Given the description of an element on the screen output the (x, y) to click on. 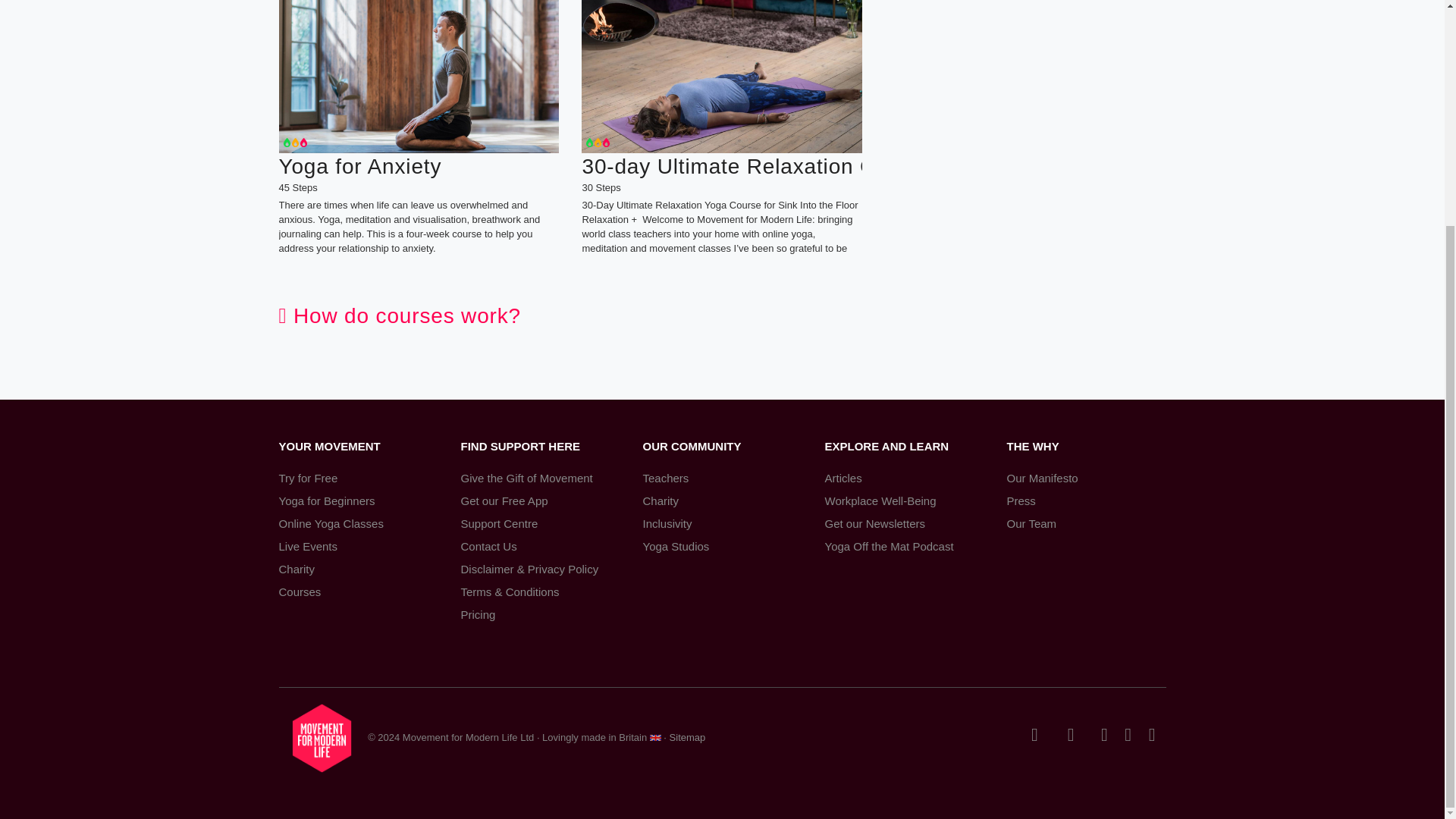
Twitter (1033, 735)
30-day Ultimate Relaxation Course (720, 76)
Facebook (1077, 735)
Yoga for Anxiety (419, 166)
Yoga for Anxiety (419, 76)
30-day Ultimate Relaxation Course (720, 166)
